Given the description of an element on the screen output the (x, y) to click on. 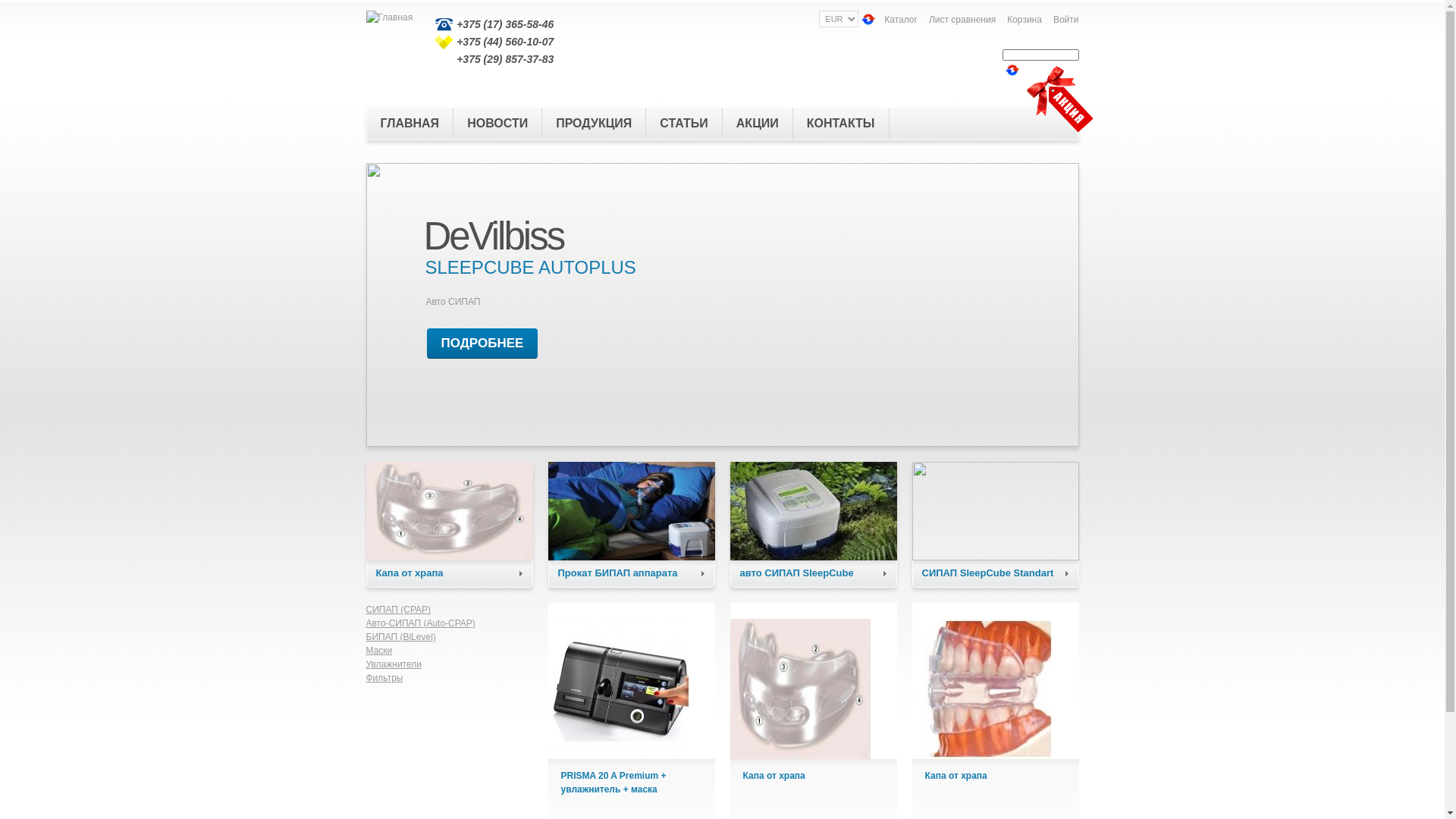
SleepCube AutoPlus Element type: hover (812, 510)
